Given the description of an element on the screen output the (x, y) to click on. 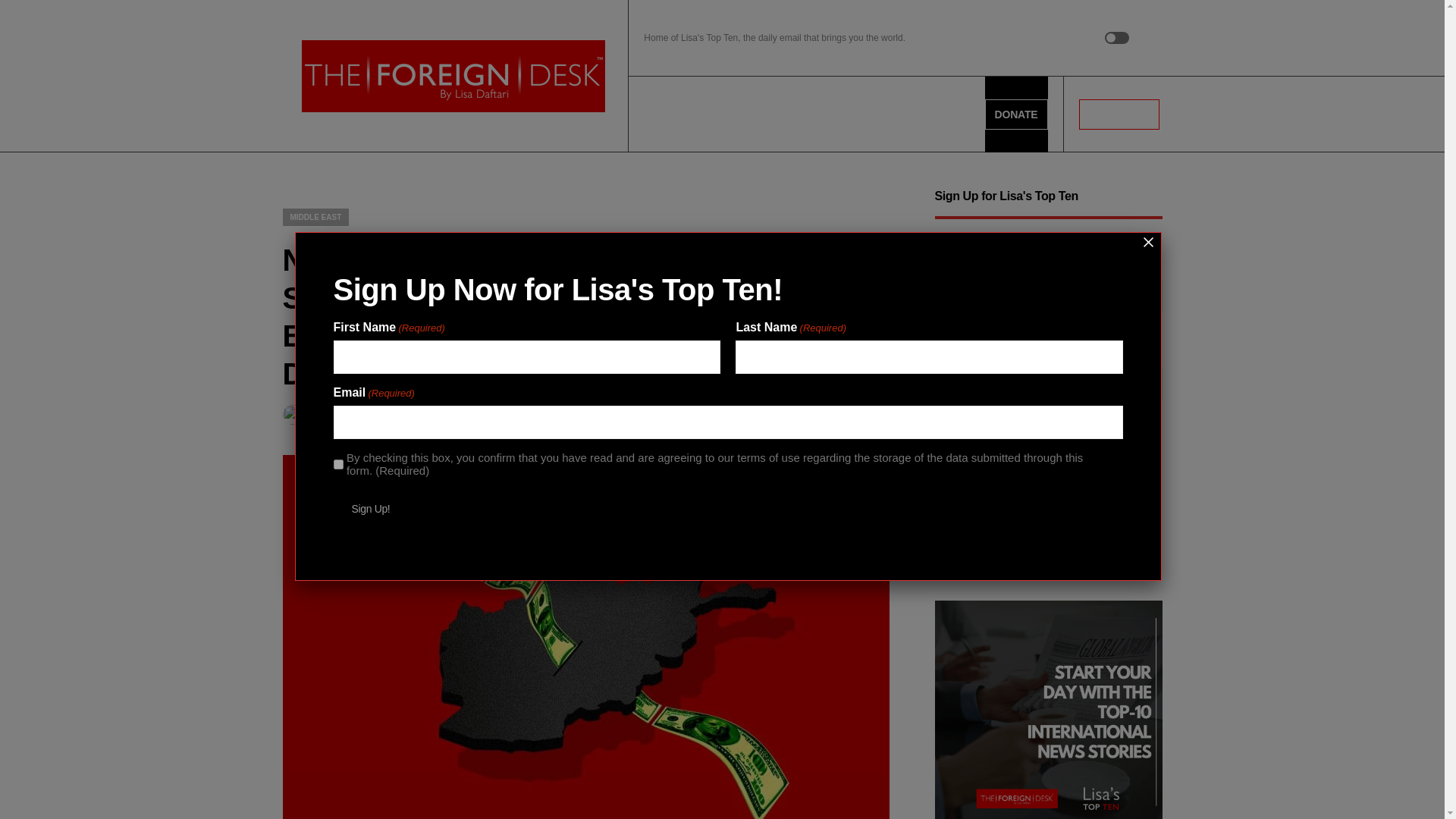
Sign Up! (371, 508)
News (659, 114)
Sign Up! (971, 530)
View all posts by Business Insider (336, 414)
